Given the description of an element on the screen output the (x, y) to click on. 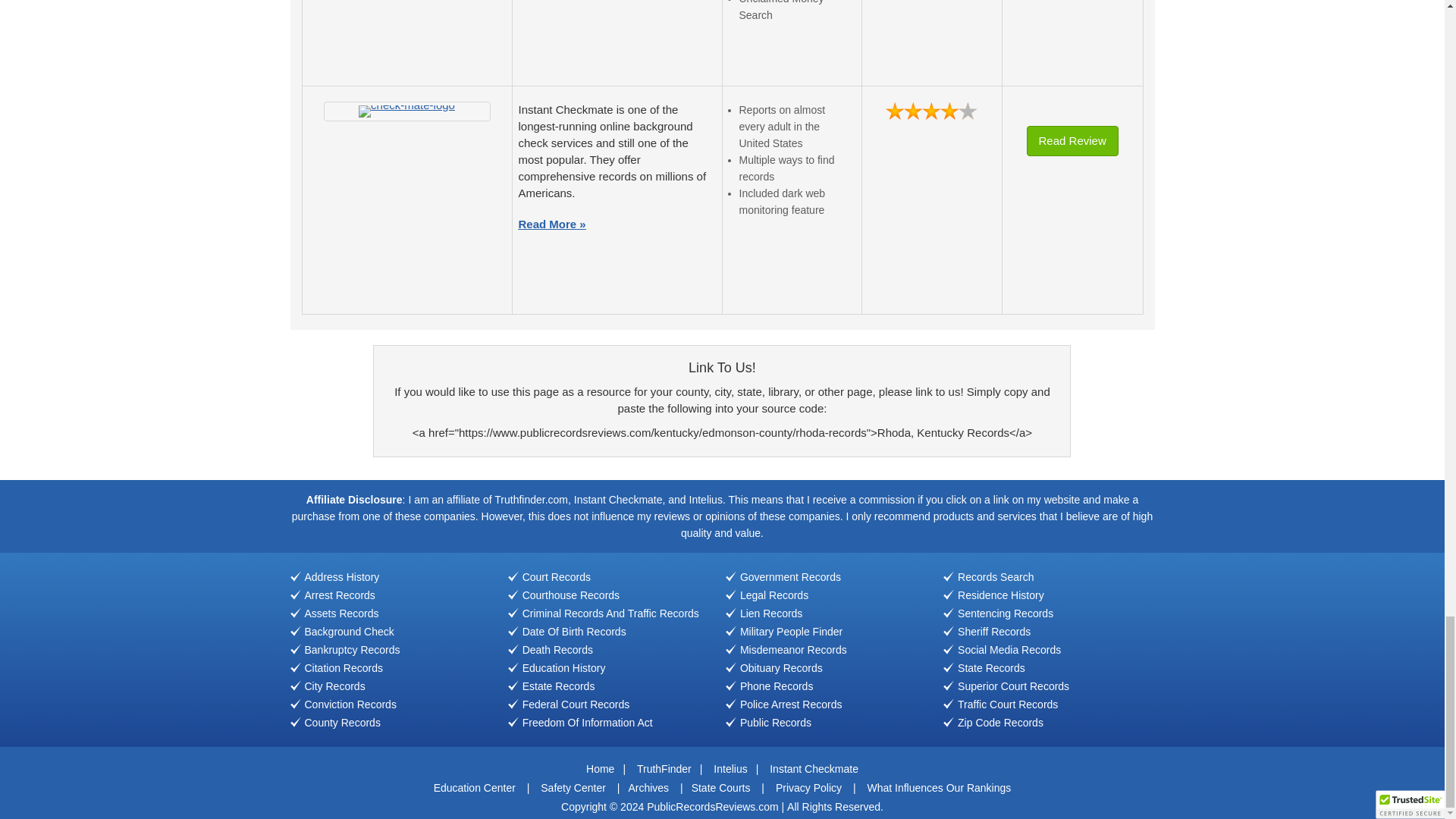
Instant Checkmate (406, 111)
